Given the description of an element on the screen output the (x, y) to click on. 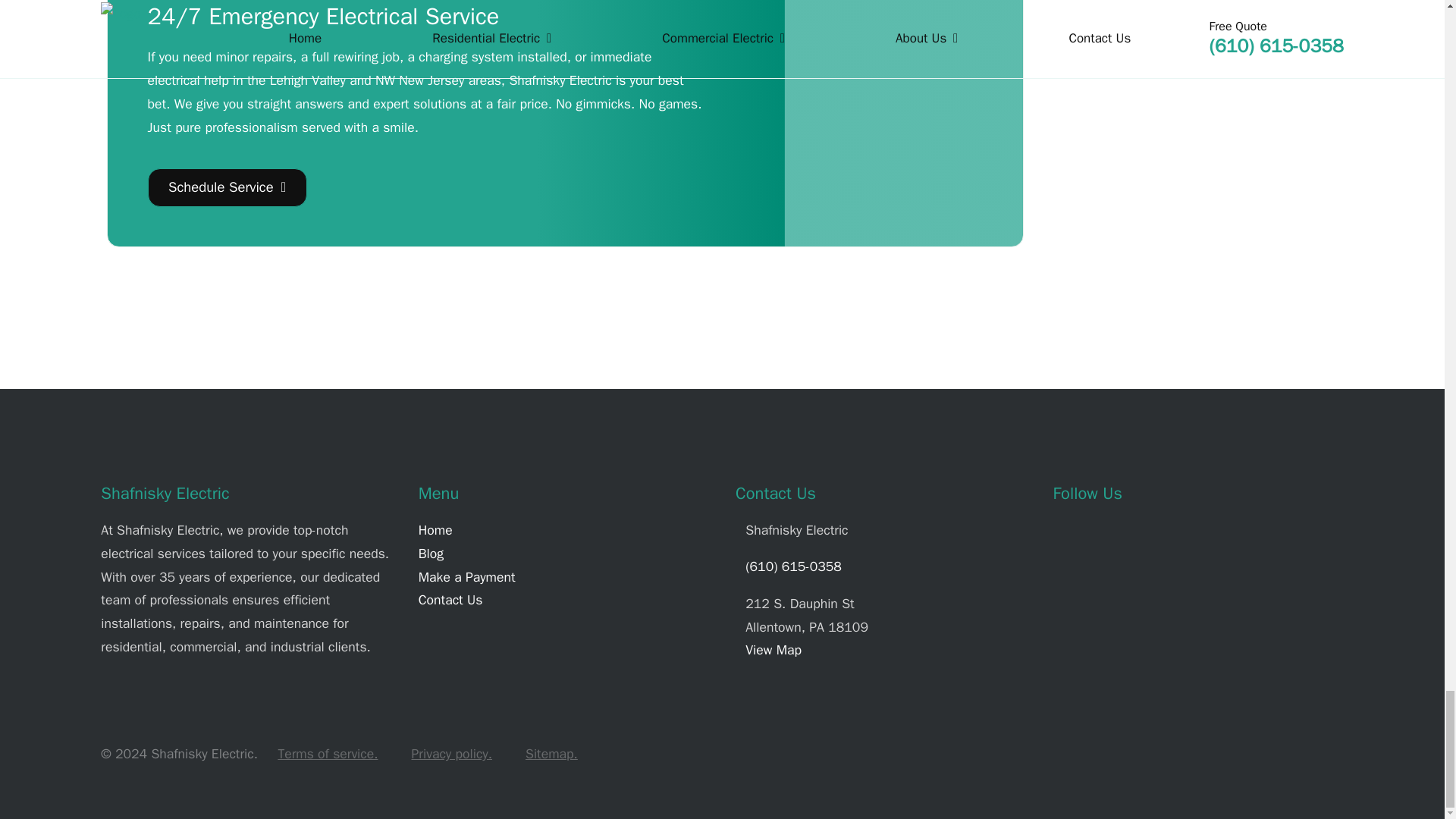
Shafnisky Electric, Inc. (898, 138)
